Given the description of an element on the screen output the (x, y) to click on. 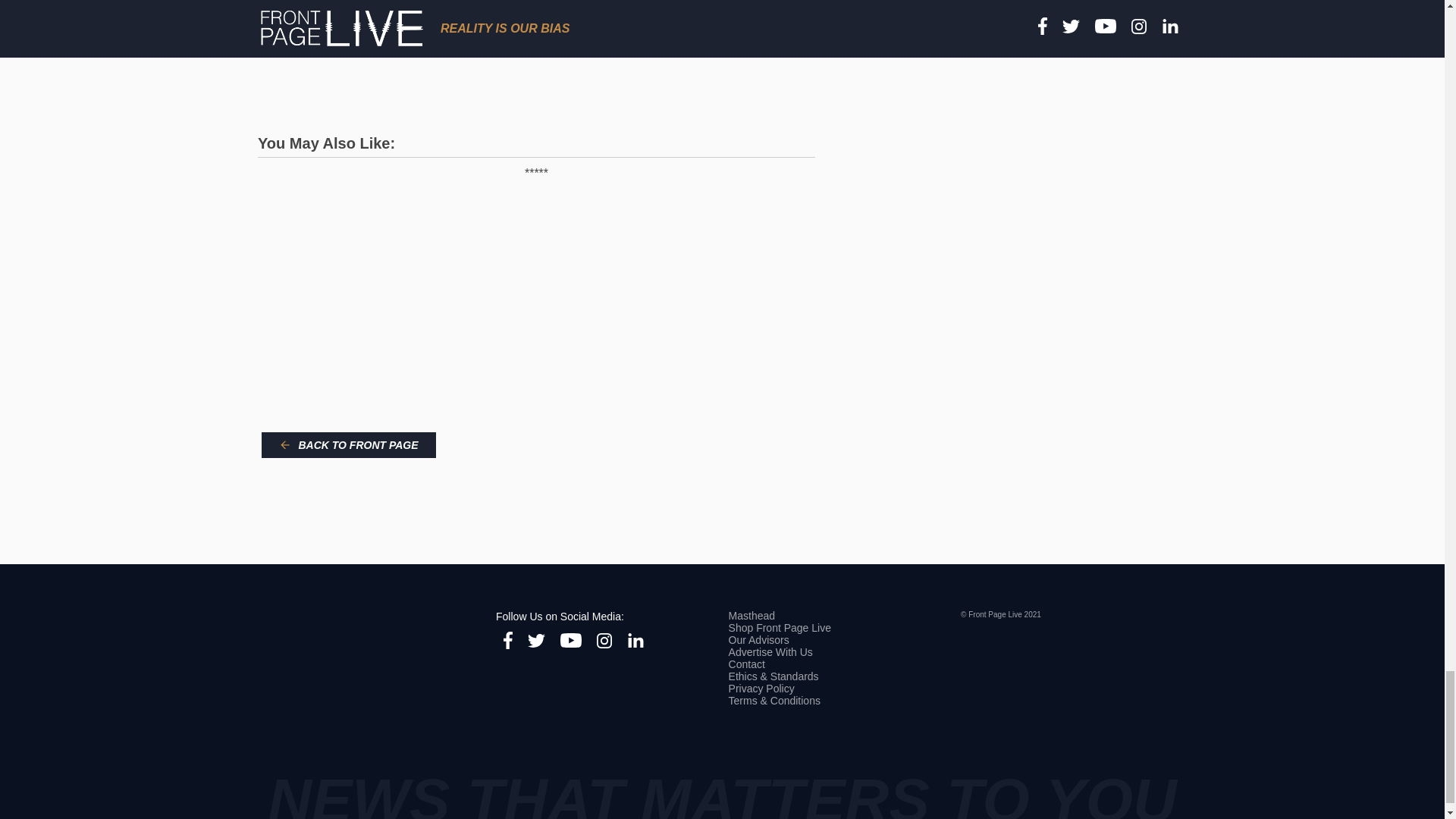
Front Page Live's LinkedIn page (636, 642)
BACK TO FRONT PAGE (348, 444)
Front Page Live's Twitter page (535, 642)
Front Page Live's YouTube page (570, 642)
